Given the description of an element on the screen output the (x, y) to click on. 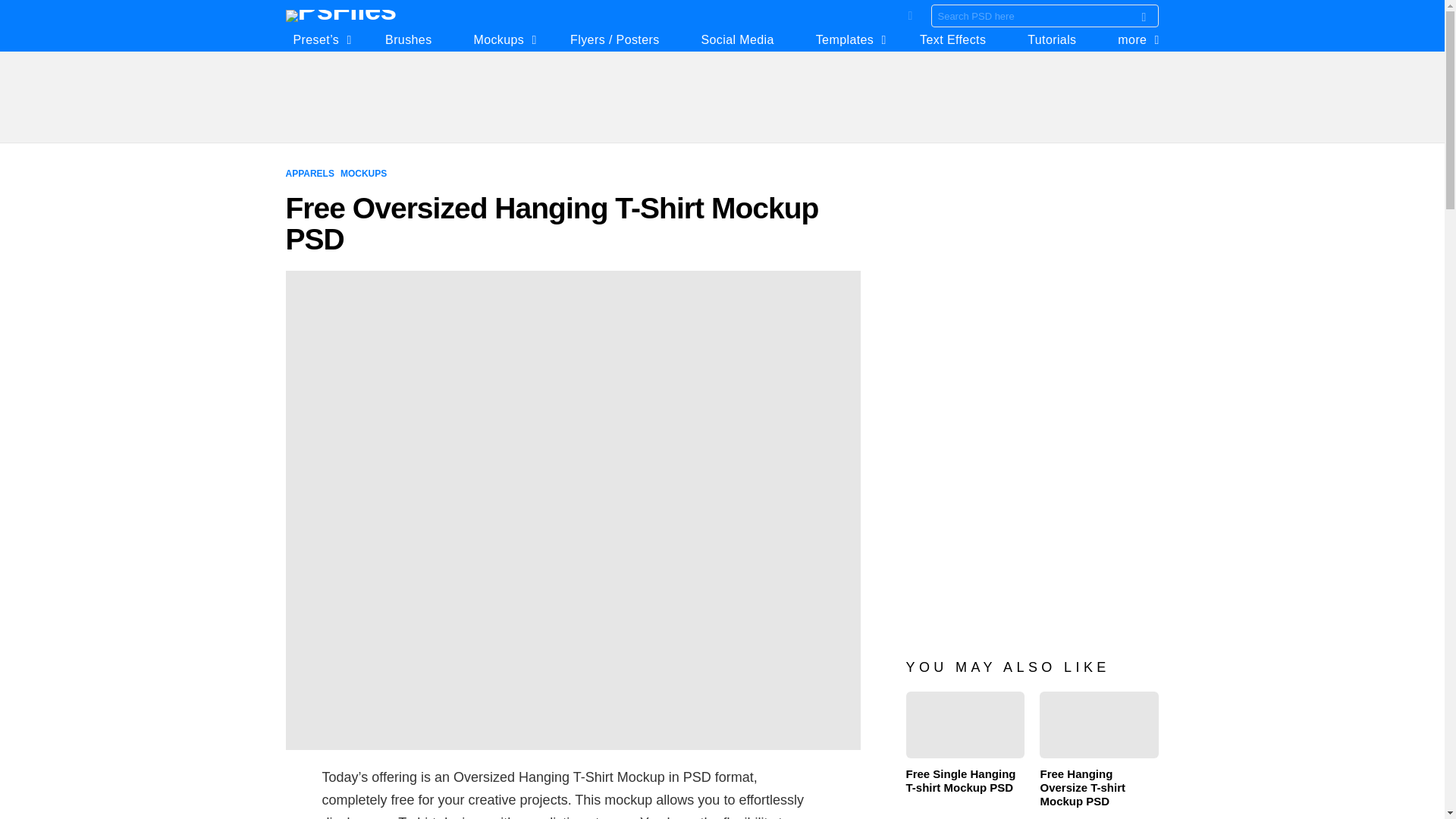
SWITCH SKIN (909, 15)
Mockups (500, 39)
Search for: (1044, 15)
Free Hanging Oversize T-shirt Mockup PSD (1098, 724)
Templates (847, 39)
Search (1143, 18)
Brushes (408, 39)
Free Single Hanging T-shirt Mockup PSD (965, 724)
Social Media (736, 39)
